Given the description of an element on the screen output the (x, y) to click on. 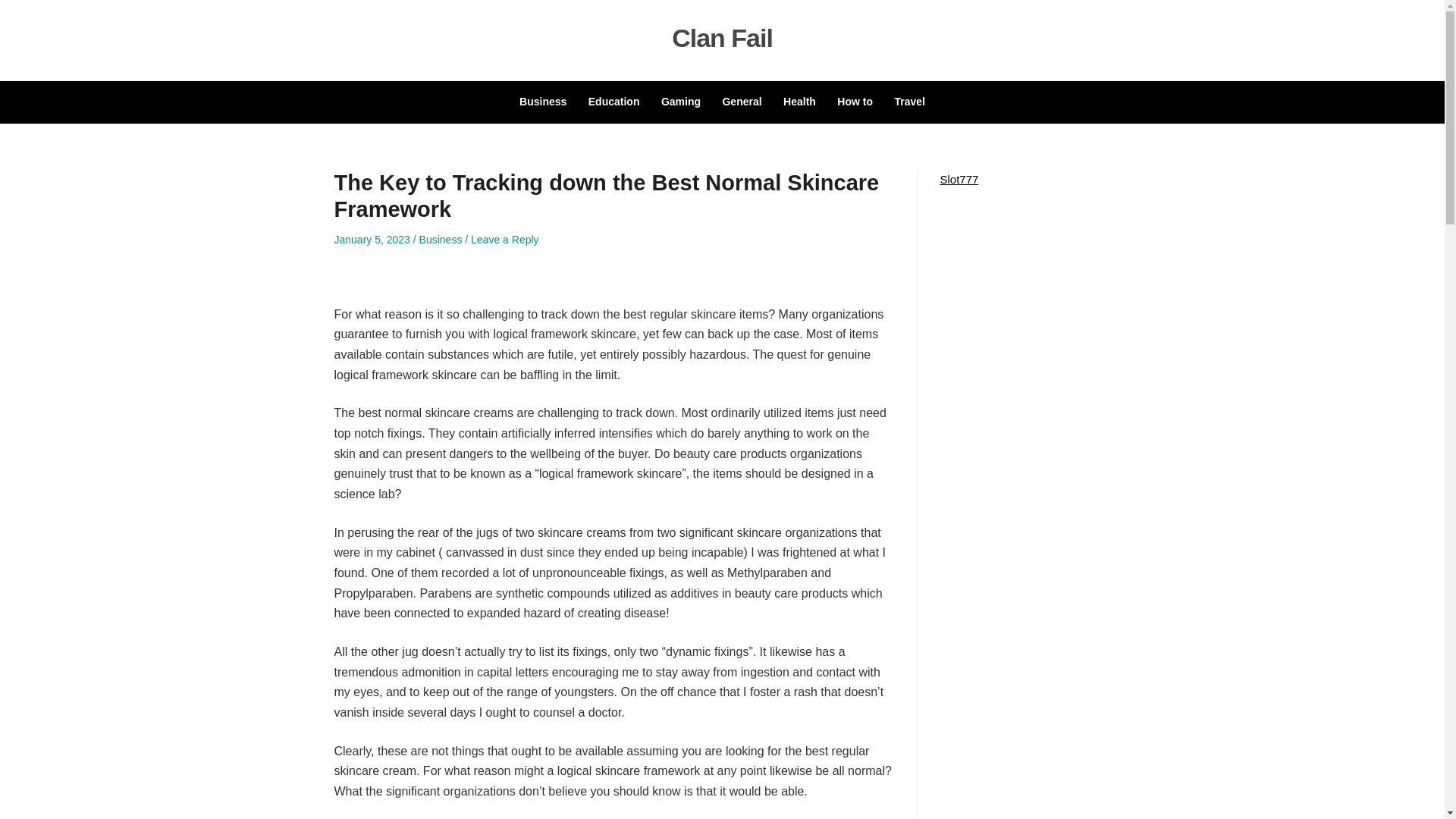
Clan Fail (722, 38)
General (741, 101)
Business (441, 239)
Business (542, 101)
How to (854, 101)
Travel (908, 101)
Slot777 (959, 178)
Leave a Reply (504, 239)
Education (614, 101)
Health (799, 101)
Gaming (680, 101)
January 5, 2023 (371, 239)
